Given the description of an element on the screen output the (x, y) to click on. 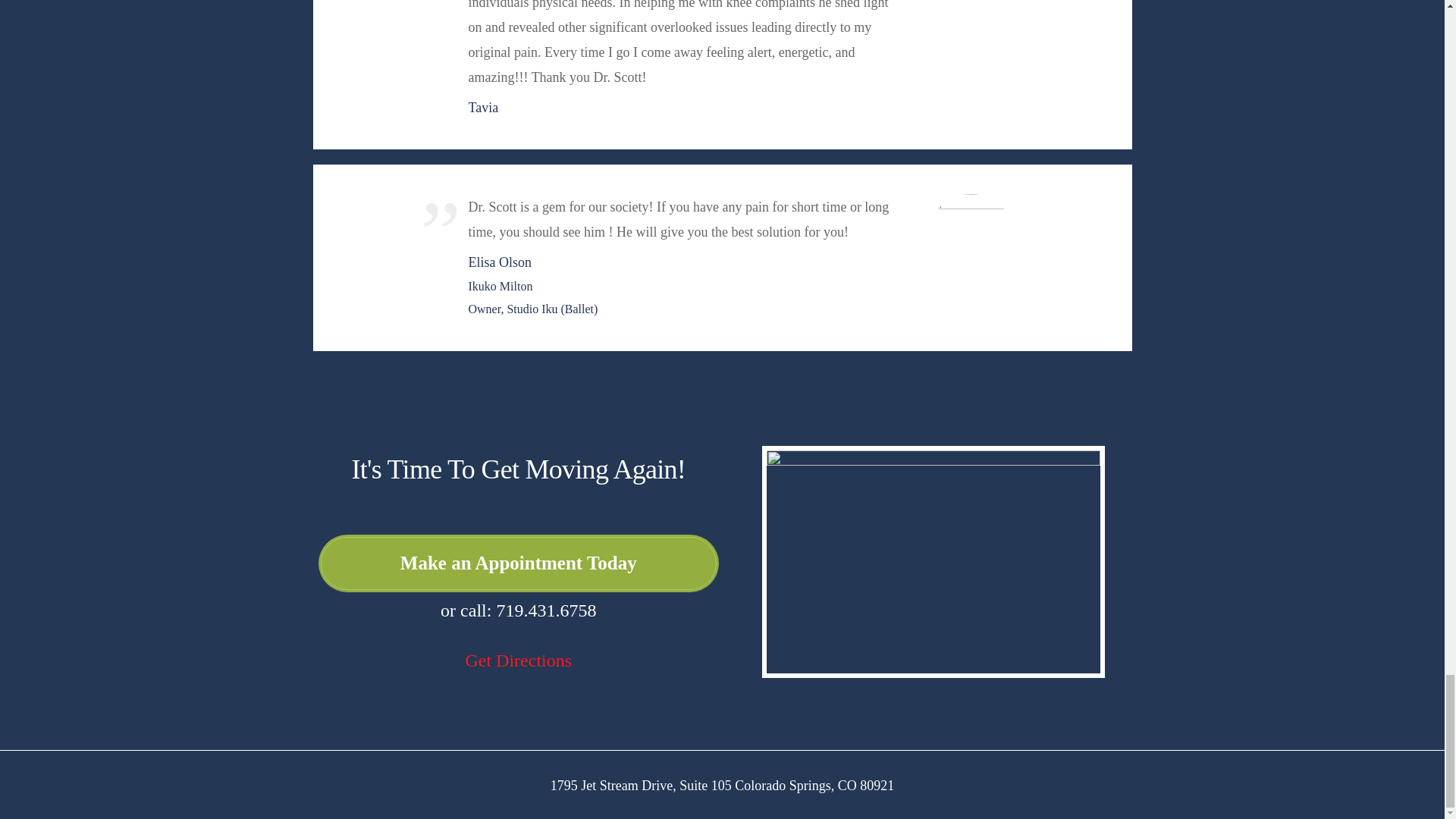
Make an Appointment Today (518, 563)
Make an Appointment Today (518, 563)
Get Directions (518, 660)
719.431.6758 (545, 609)
